Given the description of an element on the screen output the (x, y) to click on. 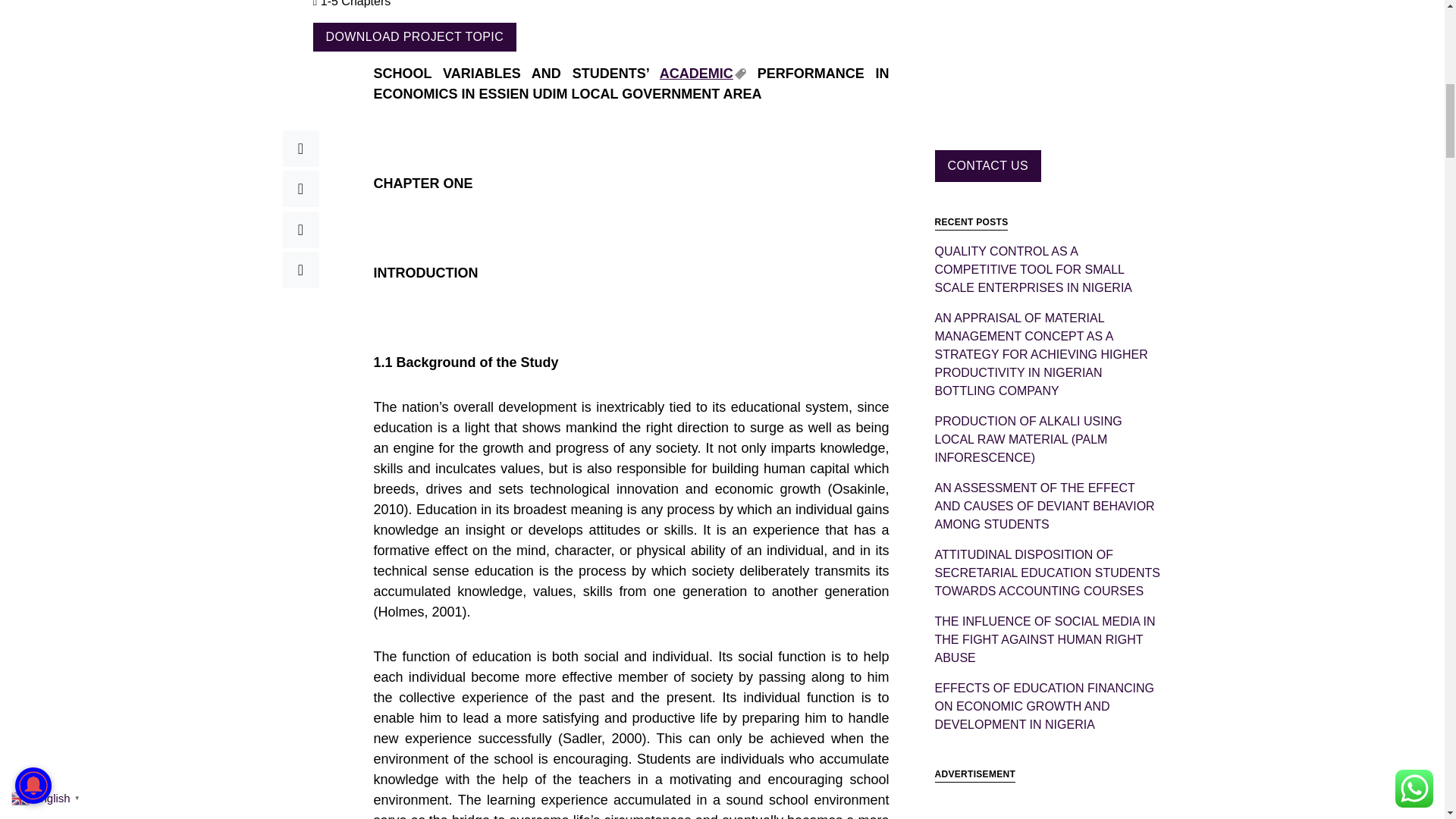
DOWNLOAD PROJECT TOPIC (414, 36)
ACADEMIC (702, 73)
